Given the description of an element on the screen output the (x, y) to click on. 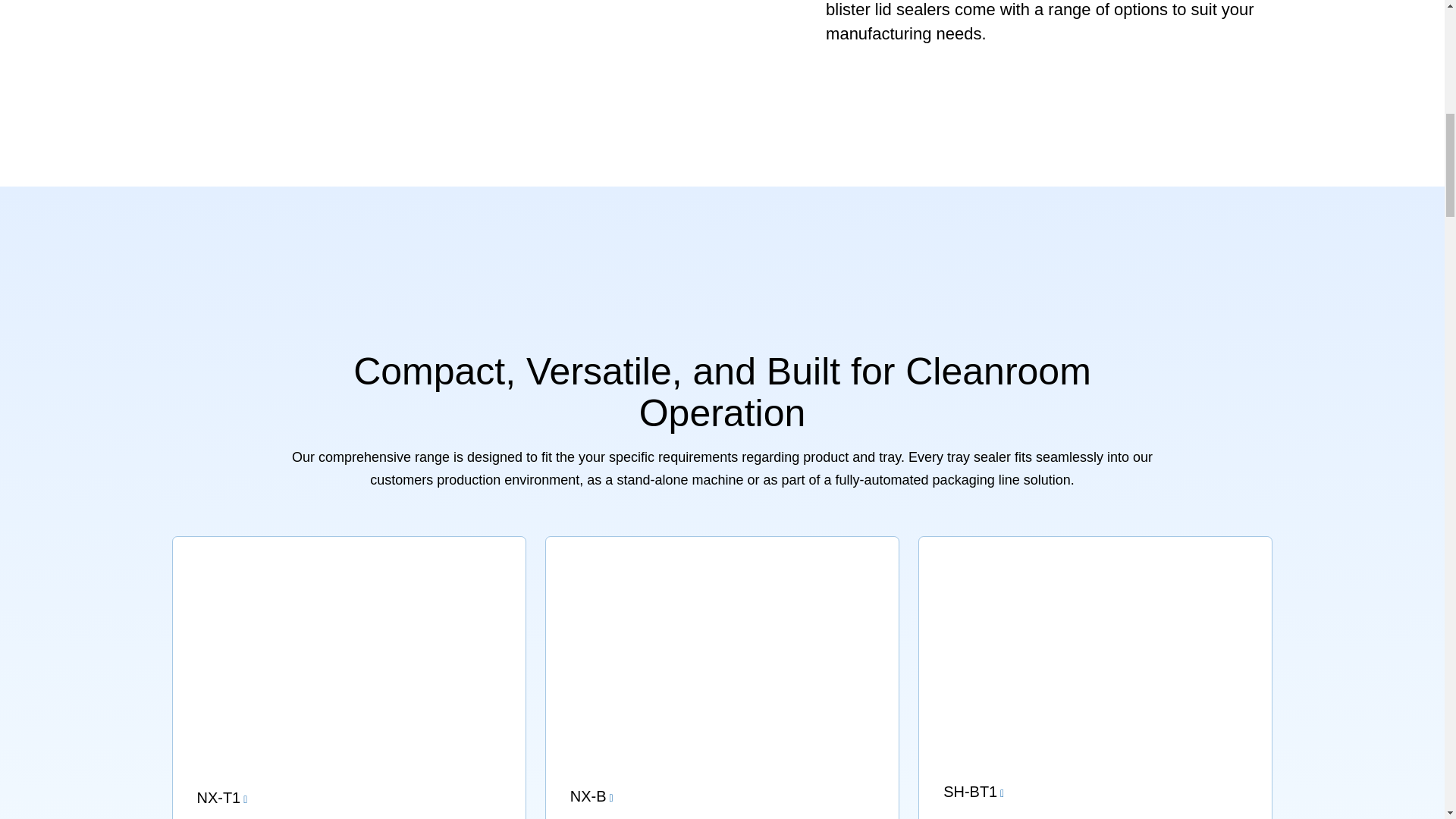
SH-BT1 (1094, 678)
NX-T1 Tray Sealer (349, 678)
NX-B Rotary Tray Heat Sealer (722, 678)
